Given the description of an element on the screen output the (x, y) to click on. 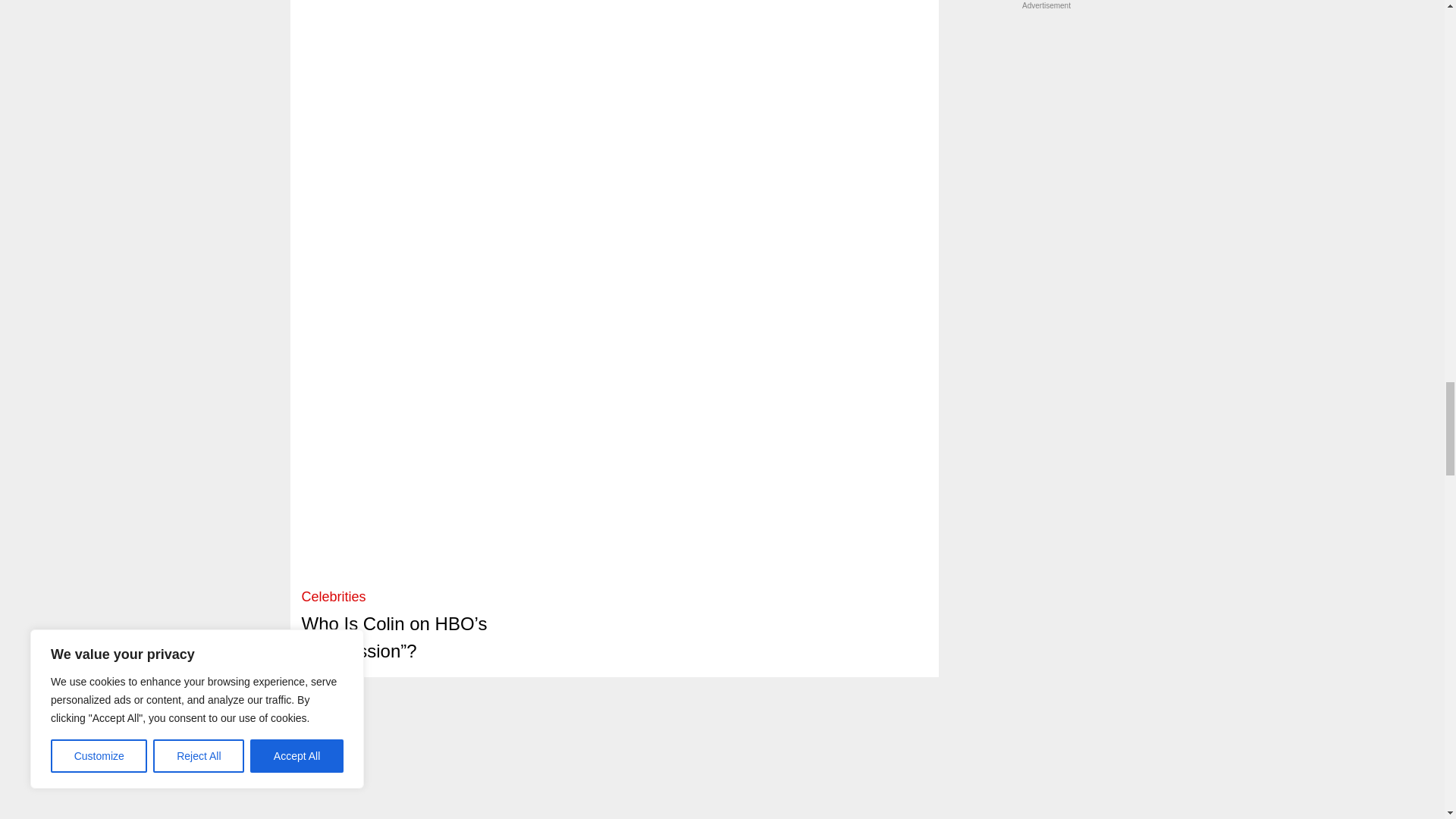
Category Name (333, 596)
